Given the description of an element on the screen output the (x, y) to click on. 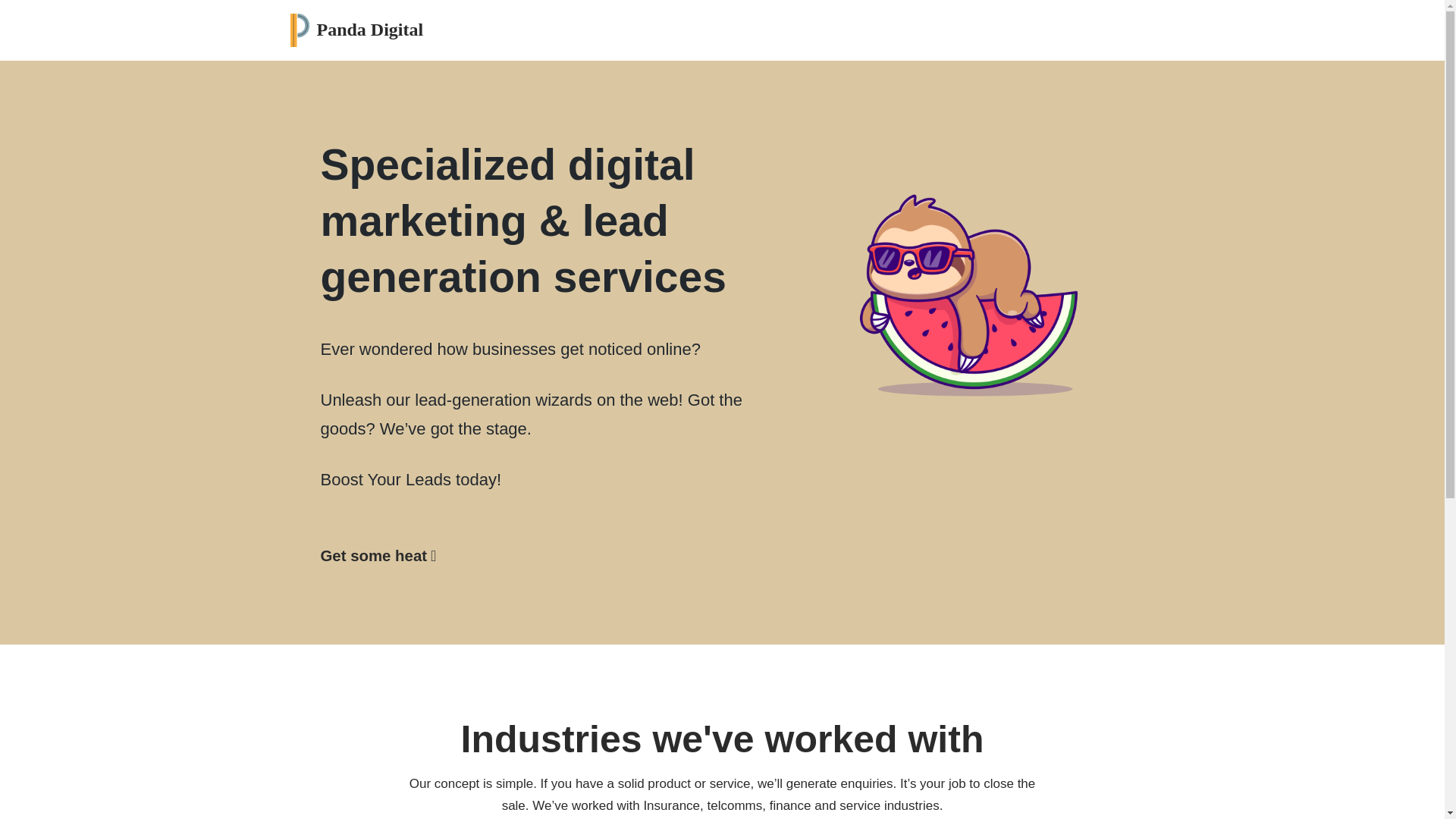
Skip to content (11, 31)
Panda Digital (356, 29)
Get some heat (377, 555)
